Given the description of an element on the screen output the (x, y) to click on. 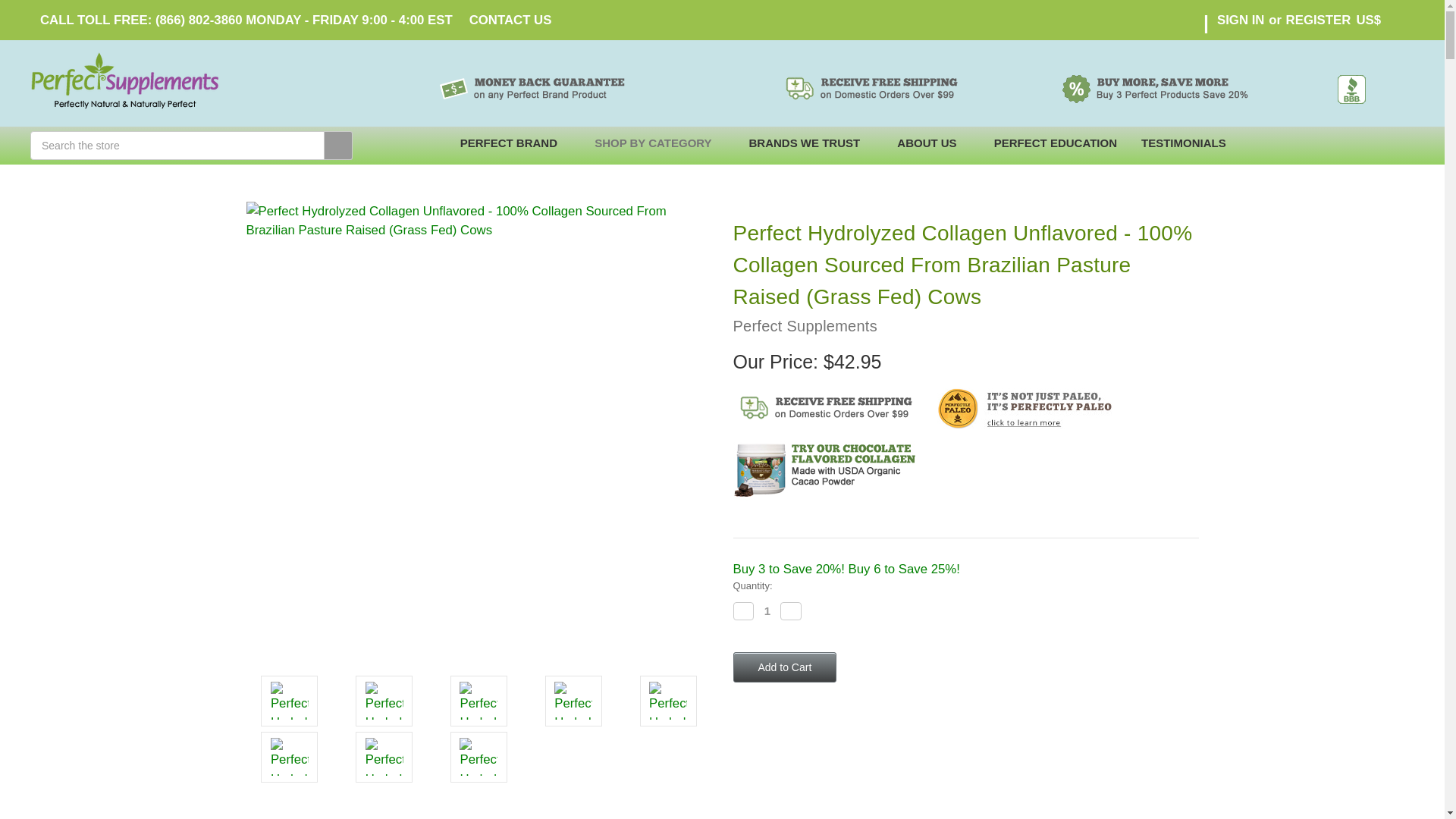
Print (794, 726)
Perfect Supplements (109, 80)
Pinterest (848, 726)
PERFECT BRAND (515, 144)
CONTACT US (510, 20)
Facebook (740, 726)
X (820, 726)
Add to Cart (783, 666)
SIGN IN (1240, 20)
Email (767, 726)
